Given the description of an element on the screen output the (x, y) to click on. 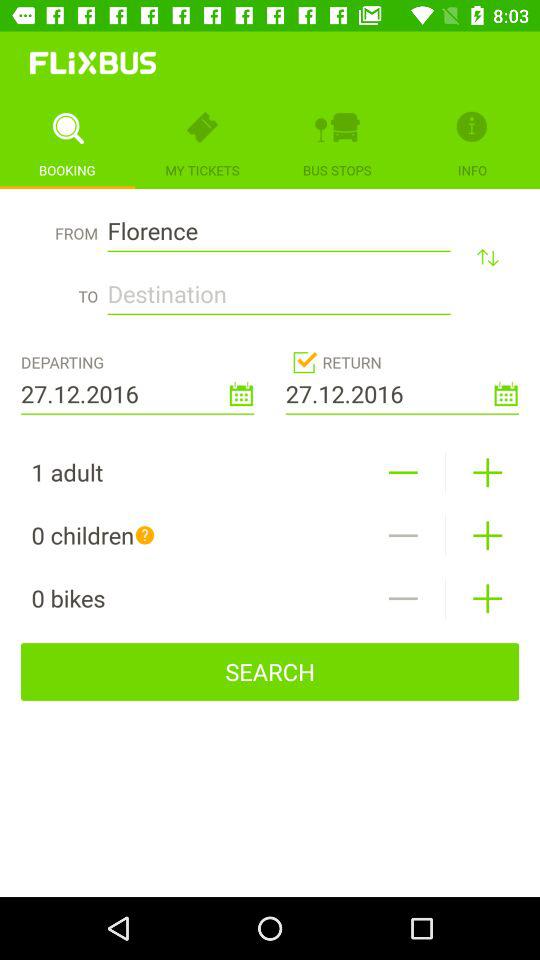
reduce quantity (402, 472)
